Given the description of an element on the screen output the (x, y) to click on. 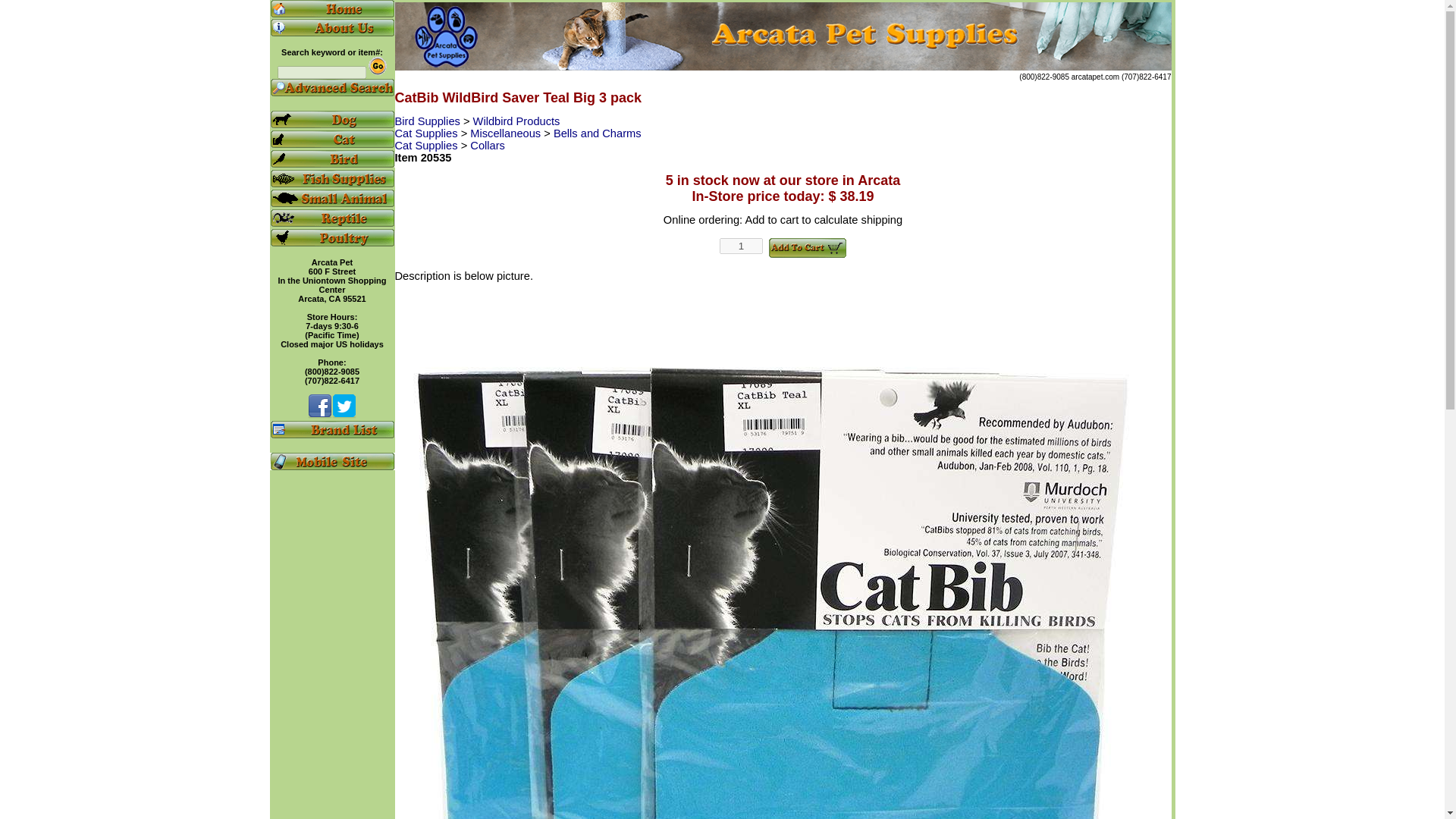
Add to Cart (806, 247)
Cat Supplies (427, 145)
Cat Supplies (427, 133)
Bird Supplies (428, 121)
Bells and Charms (597, 133)
1 (740, 245)
Miscellaneous (506, 133)
Collars (487, 145)
Wildbird Products (516, 121)
